Given the description of an element on the screen output the (x, y) to click on. 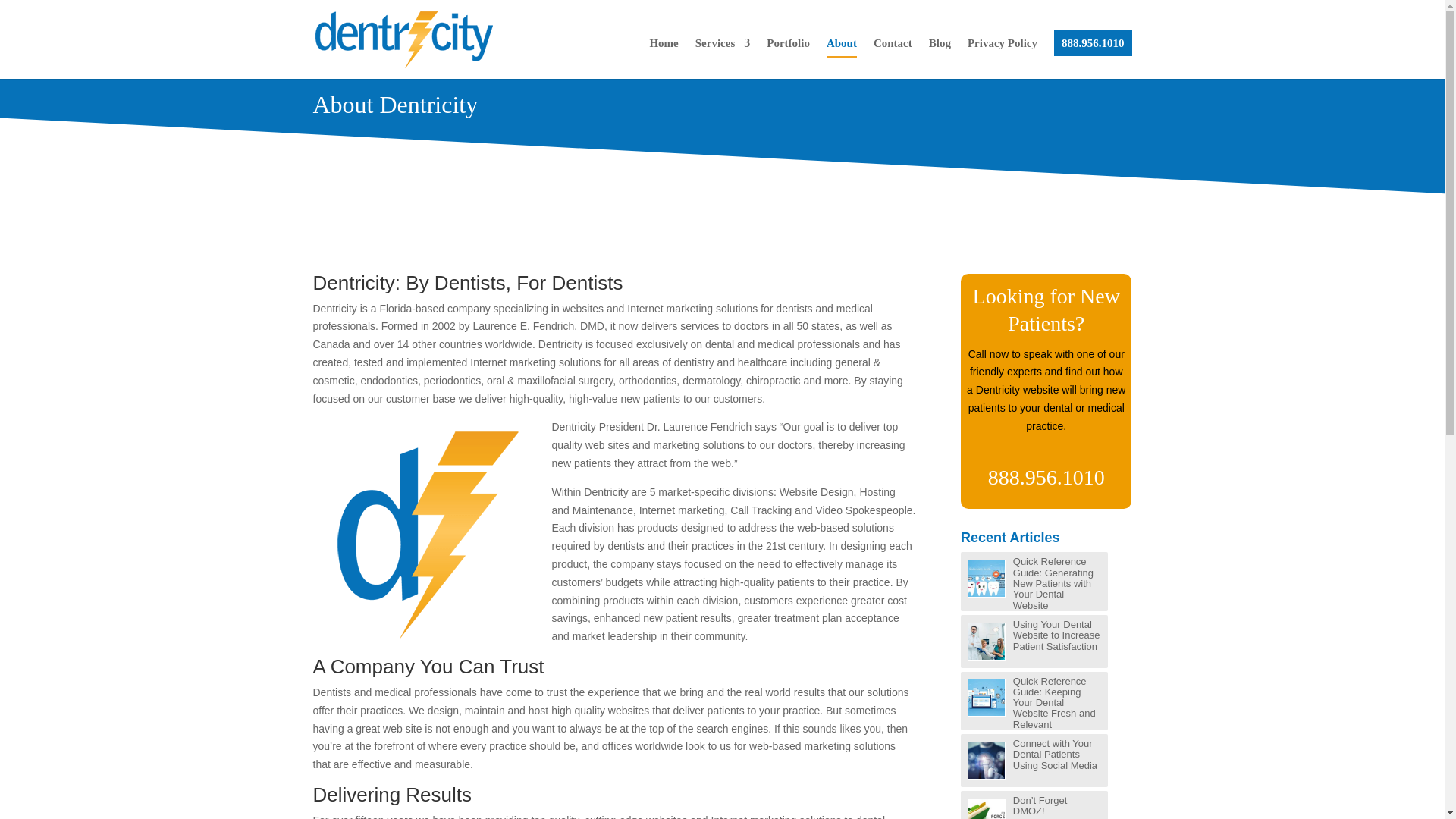
Services (722, 57)
Portfolio (788, 57)
Privacy Policy (1002, 57)
Contact (892, 57)
888.956.1010 (1093, 43)
Contact Dentricity (892, 57)
